Given the description of an element on the screen output the (x, y) to click on. 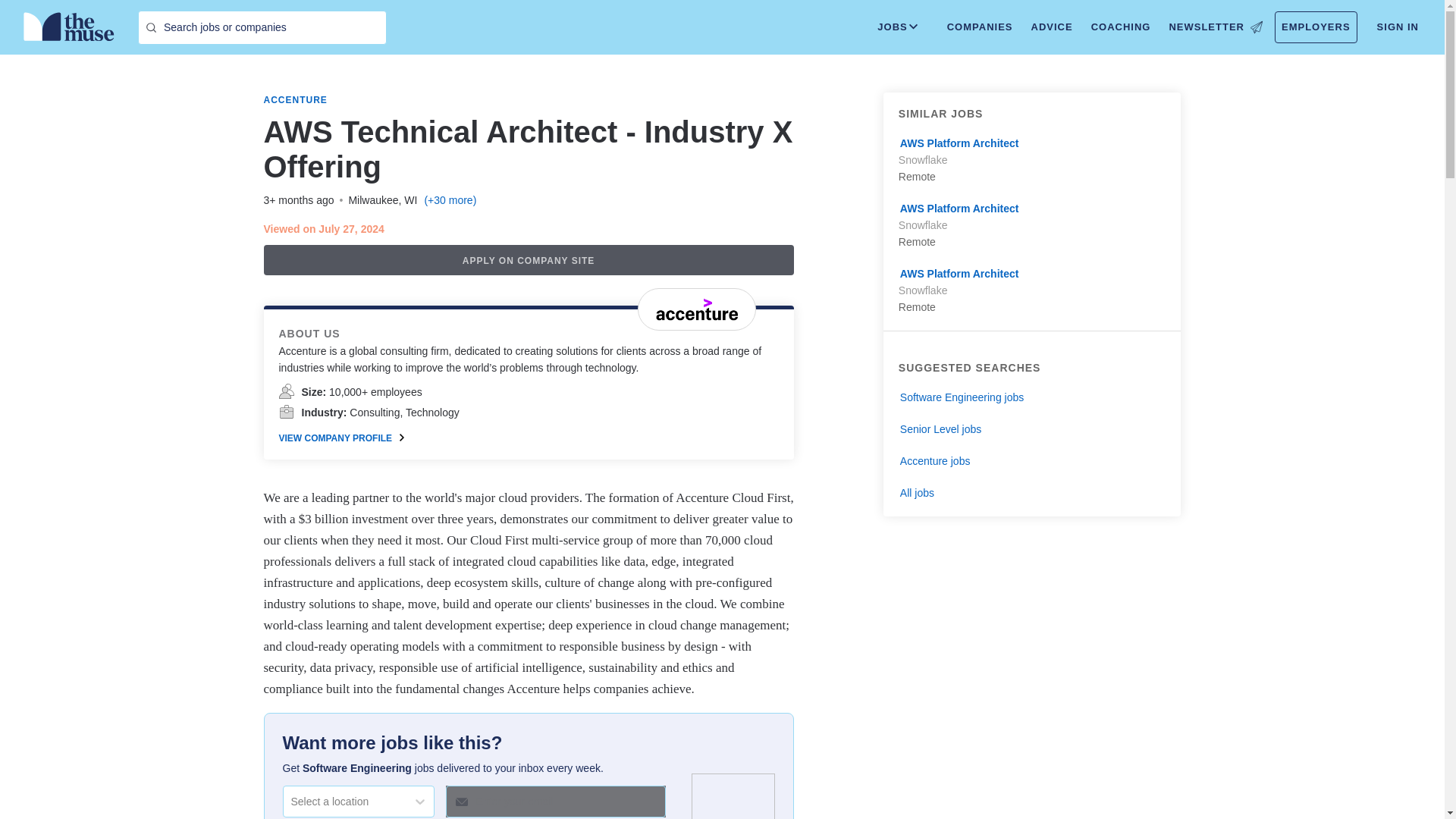
ADVICE (1051, 27)
COMPANIES (979, 27)
APPLY ON COMPANY SITE (528, 259)
ACCENTURE (295, 100)
SIGN IN (1398, 27)
COACHING (1120, 27)
NEWSLETTER (1214, 27)
EMPLOYERS (1315, 27)
VIEW COMPANY PROFILE (341, 438)
